Given the description of an element on the screen output the (x, y) to click on. 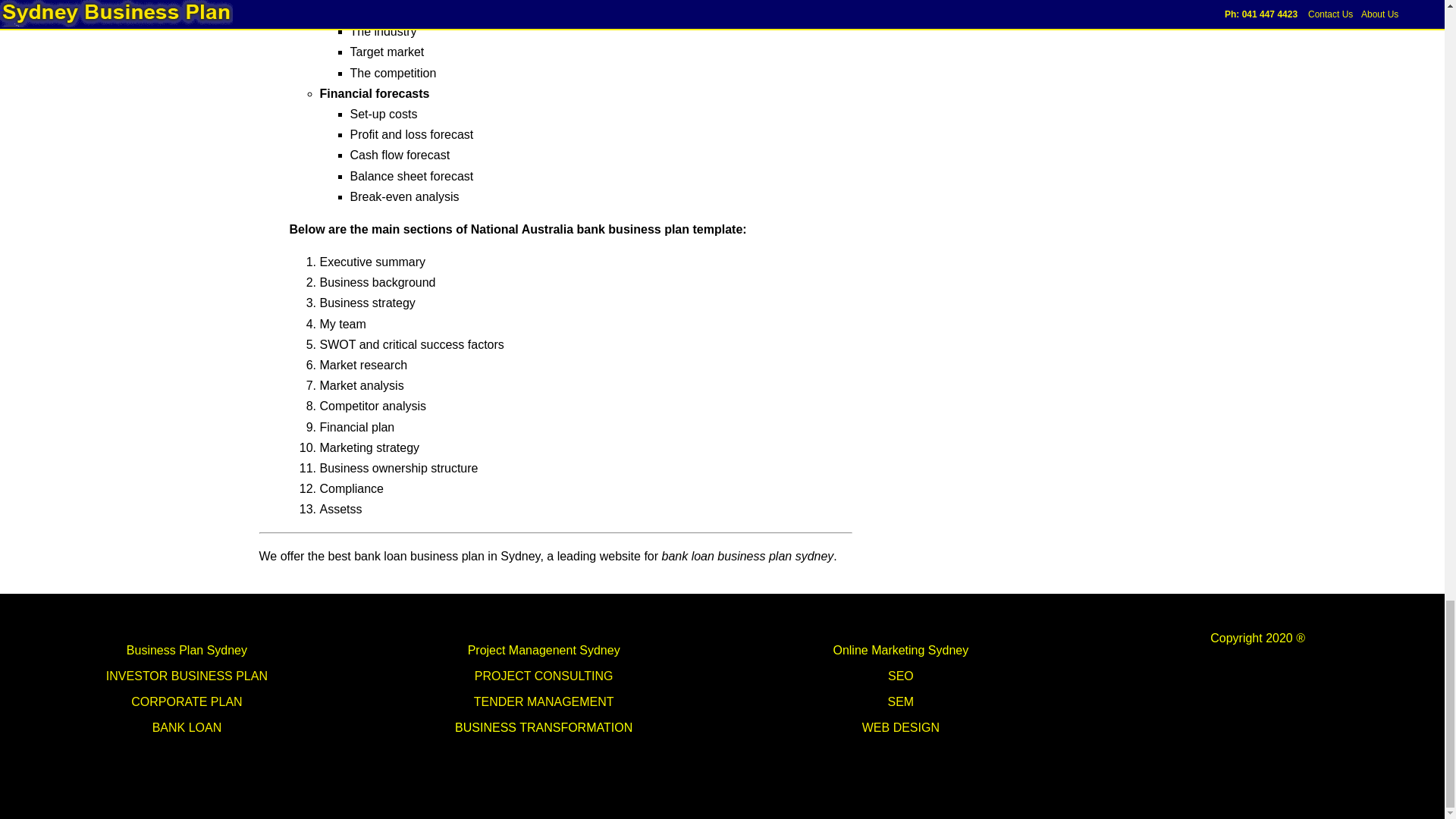
PROJECT CONSULTING (543, 675)
INVESTOR BUSINESS PLAN (186, 675)
CORPORATE PLAN (186, 701)
SEO (901, 675)
TENDER MANAGEMENT (544, 701)
BANK LOAN (187, 727)
SEM (901, 701)
WEB DESIGN (900, 727)
